Given the description of an element on the screen output the (x, y) to click on. 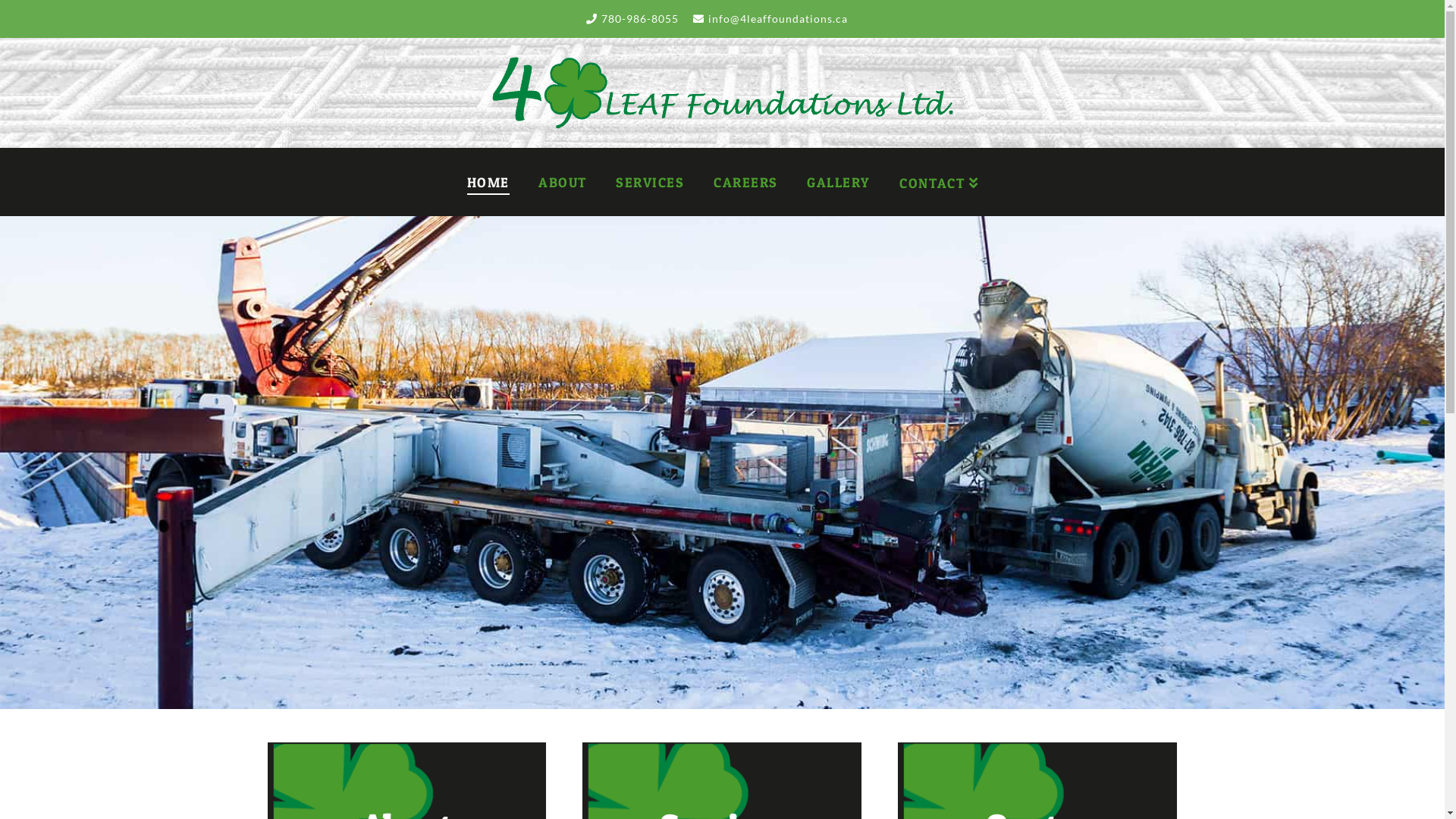
SERVICES Element type: text (649, 181)
CONTACT Element type: text (938, 181)
ABOUT Element type: text (561, 181)
CAREERS Element type: text (744, 181)
GALLERY Element type: text (837, 181)
info@4leaffoundations.ca Element type: text (777, 18)
780-986-8055 Element type: text (638, 18)
HOME Element type: text (487, 181)
